Given the description of an element on the screen output the (x, y) to click on. 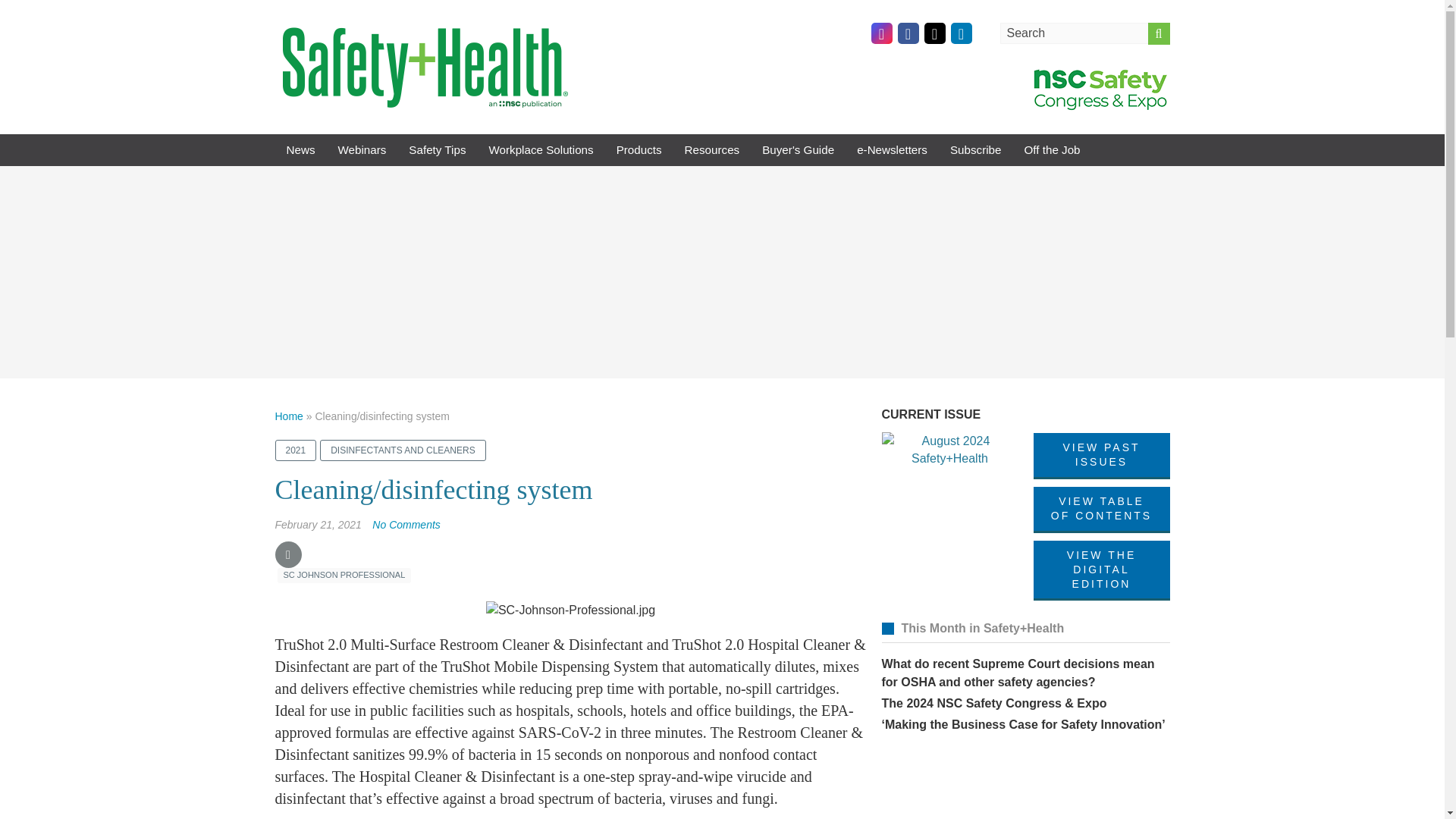
News (300, 150)
Safety Tips (437, 150)
Webinars (361, 150)
